Given the description of an element on the screen output the (x, y) to click on. 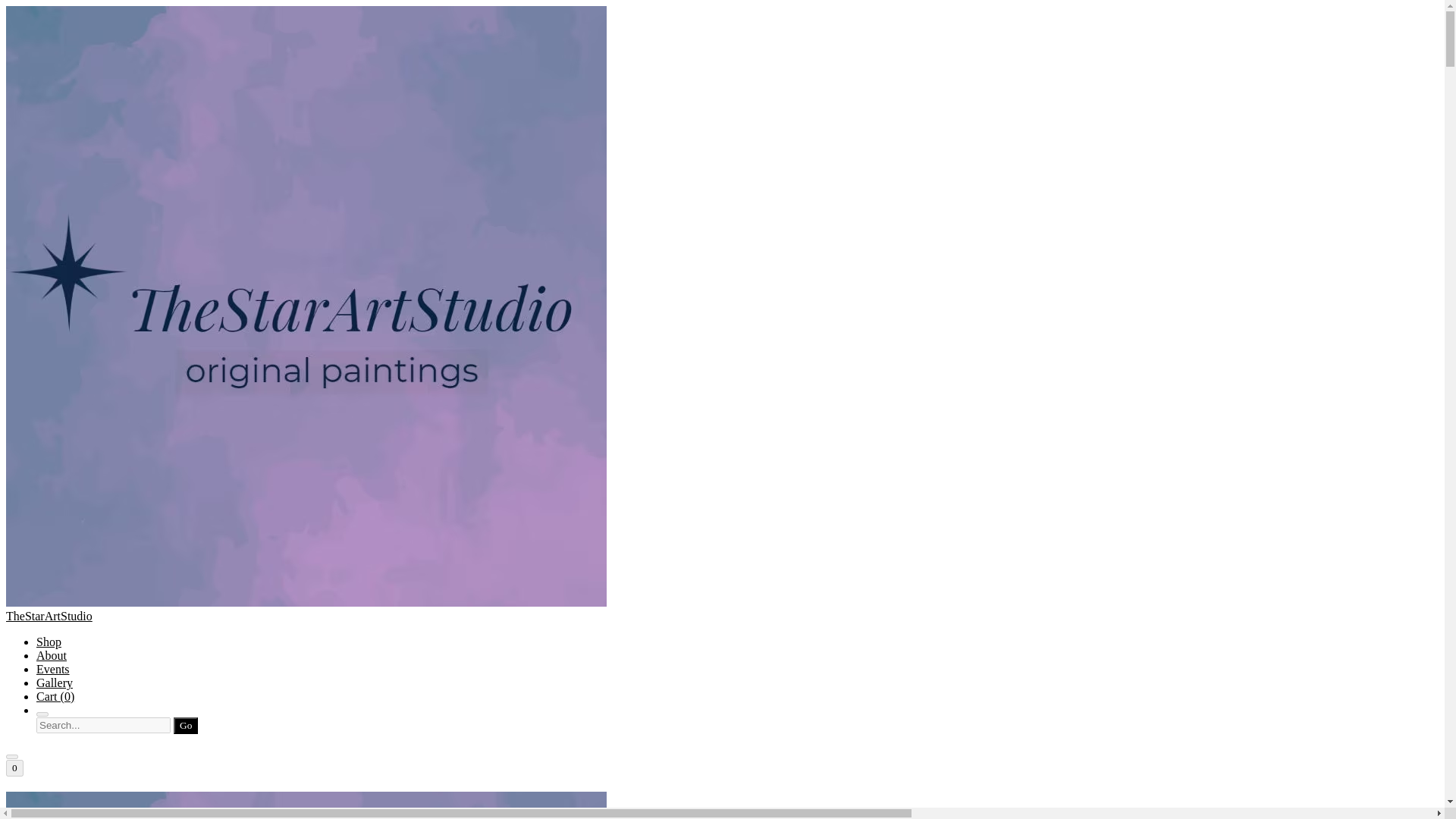
0 (14, 768)
TheStarArtStudio (721, 805)
Shop (48, 641)
Go (185, 725)
Events (52, 668)
Go (185, 725)
Gallery (54, 682)
About (51, 655)
